Given the description of an element on the screen output the (x, y) to click on. 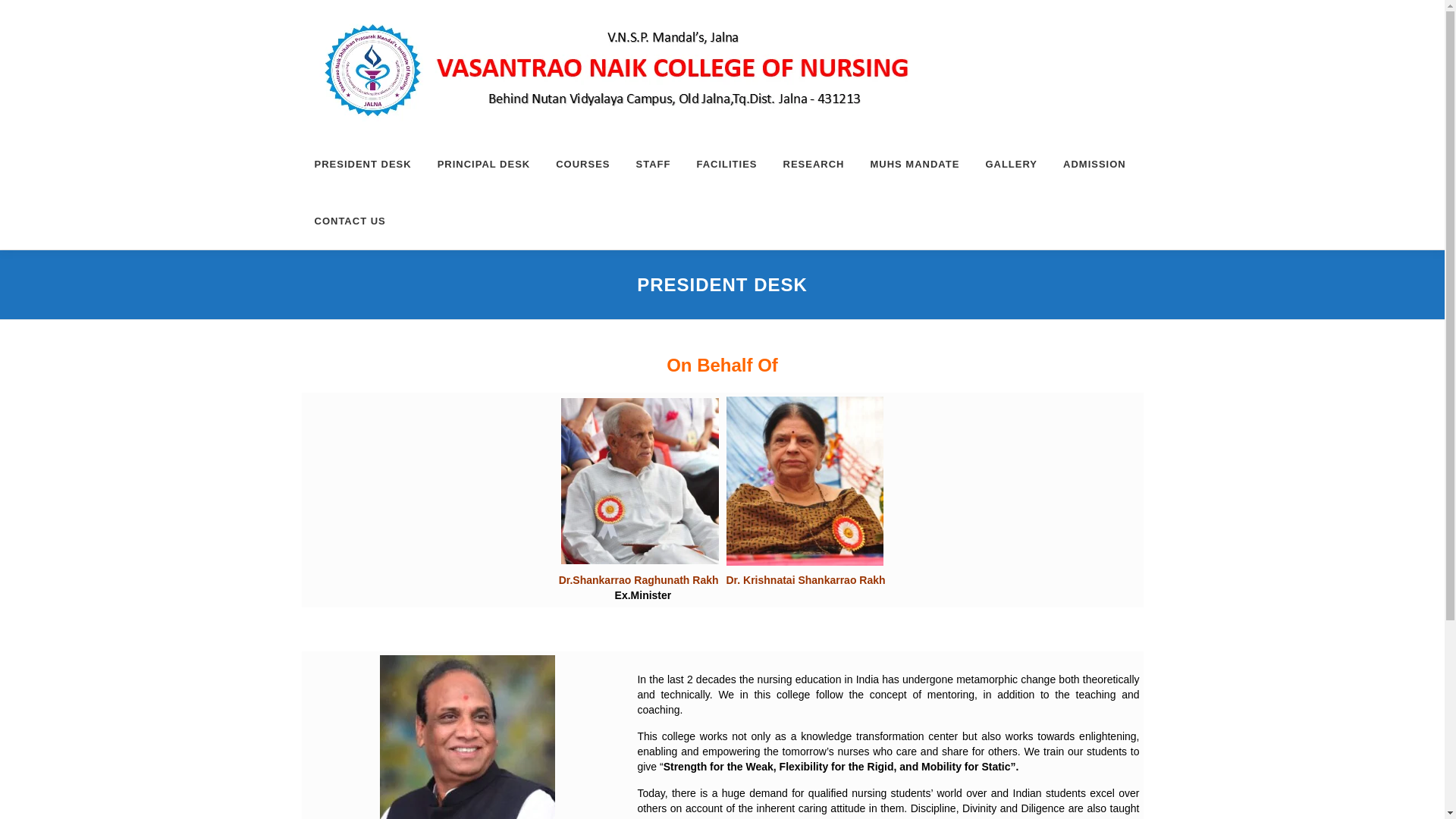
MUHS MANDATE (914, 163)
ADMISSION (1093, 163)
COURSES (583, 163)
RESEARCH (813, 163)
PRINCIPAL DESK (484, 163)
GALLERY (1010, 163)
STAFF (653, 163)
PRESIDENT DESK (363, 163)
FACILITIES (726, 163)
